Given the description of an element on the screen output the (x, y) to click on. 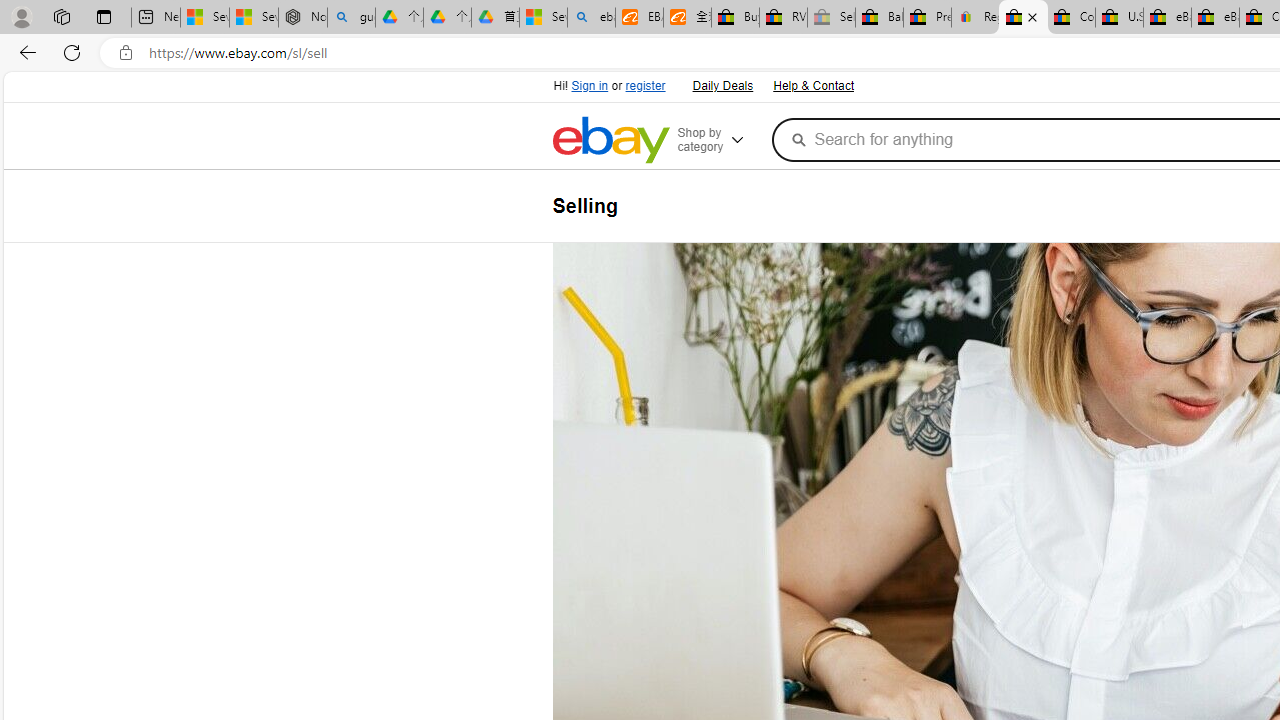
eBay Home (610, 139)
Daily Deals (721, 84)
eBay Inc. Reports Third Quarter 2023 Results (1215, 17)
Shop by category (720, 140)
Help & Contact (813, 86)
U.S. State Privacy Disclosures - eBay Inc. (1119, 17)
Selling on eBay | Electronics, Fashion, Home & Garden | eBay (1023, 17)
Sign in (589, 85)
Buy Auto Parts & Accessories | eBay (735, 17)
register (644, 85)
